Given the description of an element on the screen output the (x, y) to click on. 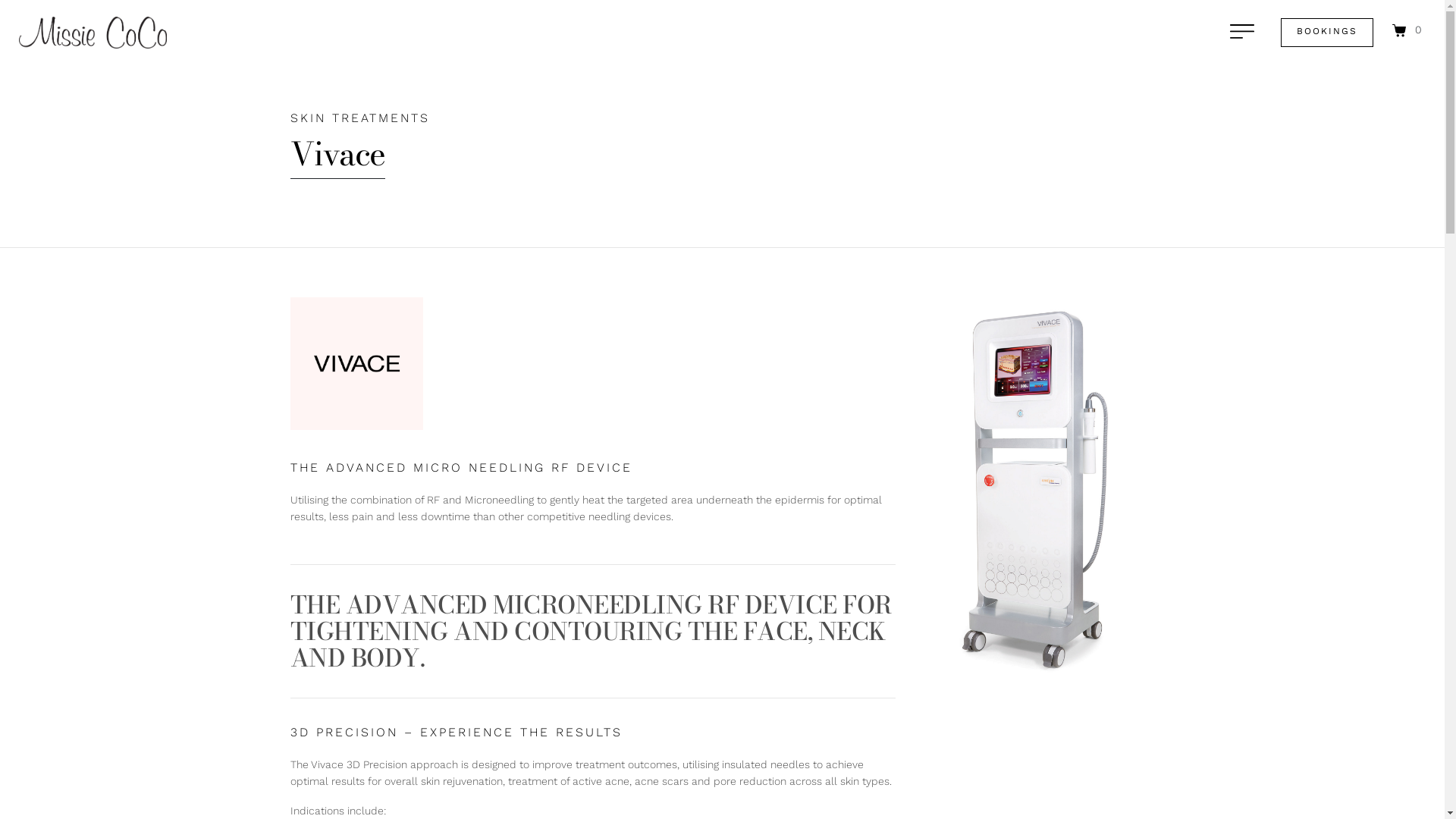
BOOKINGS Element type: text (1326, 32)
0 Element type: text (1406, 29)
